Given the description of an element on the screen output the (x, y) to click on. 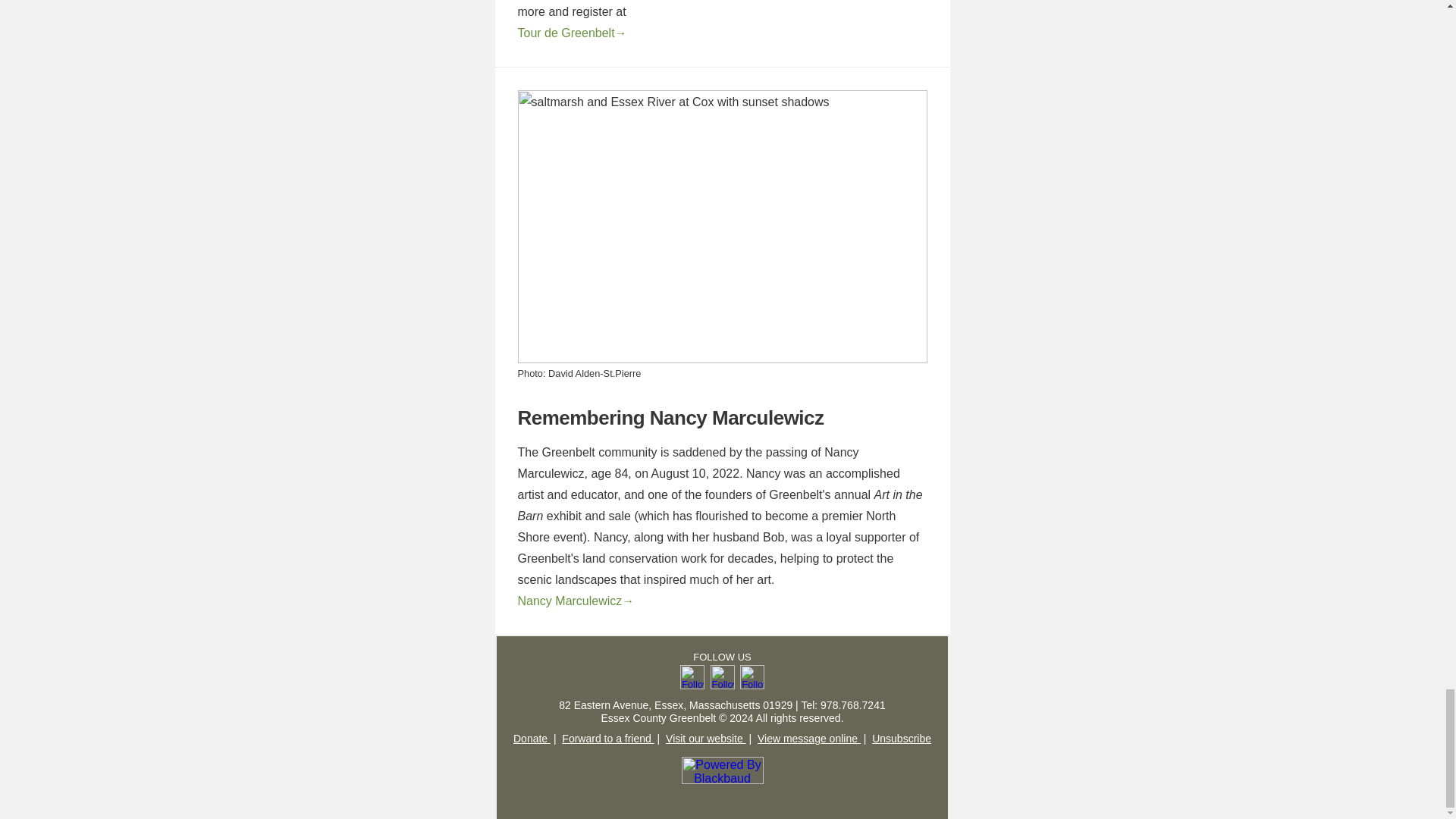
Forward to a friend (607, 738)
978.768.7241 (853, 705)
Donate (531, 738)
Unsubscribe (901, 738)
Visit our website (705, 738)
View message online (808, 738)
